Given the description of an element on the screen output the (x, y) to click on. 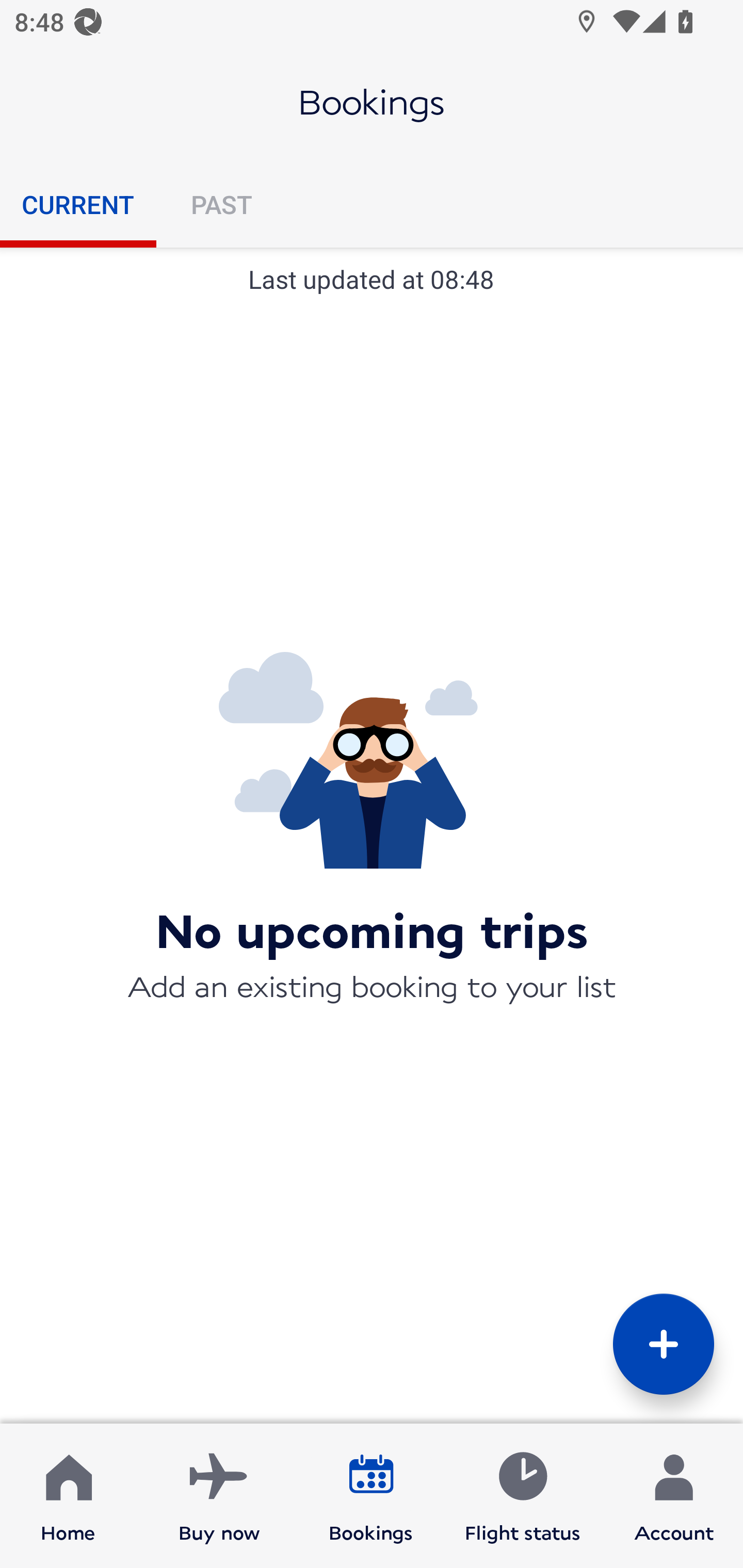
PAST (221, 204)
Home (68, 1495)
Buy now (219, 1495)
Flight status (522, 1495)
Account (674, 1495)
